Given the description of an element on the screen output the (x, y) to click on. 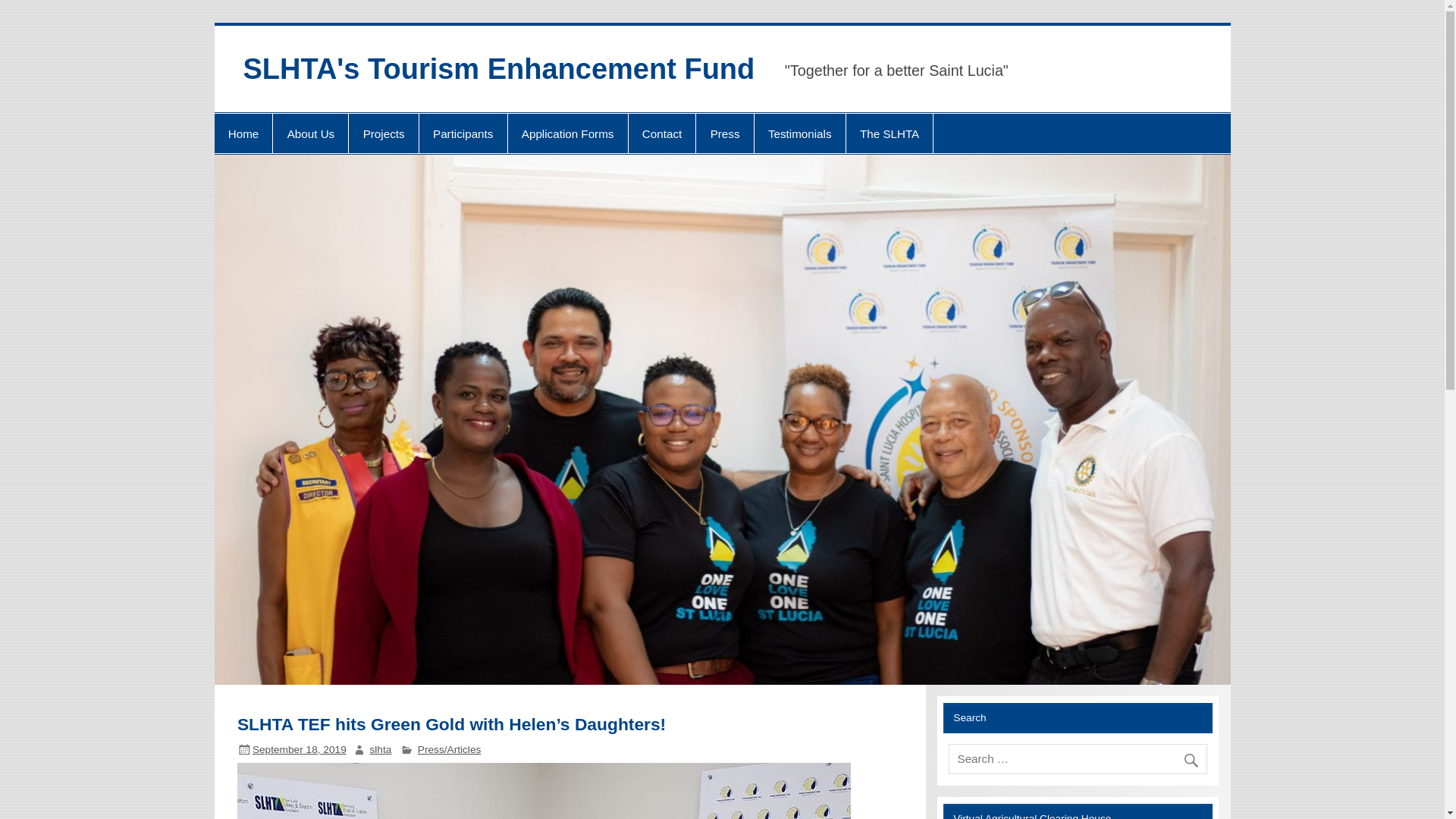
September 18, 2019 (298, 749)
Application Forms (567, 133)
About Us (310, 133)
SLHTA's Tourism Enhancement Fund (498, 69)
Testimonials (799, 133)
slhta (380, 749)
Participants (462, 133)
The SLHTA (889, 133)
Press (723, 133)
View all posts by slhta (380, 749)
Contact (661, 133)
2:05 pm (298, 749)
Home (243, 133)
Projects (383, 133)
